Given the description of an element on the screen output the (x, y) to click on. 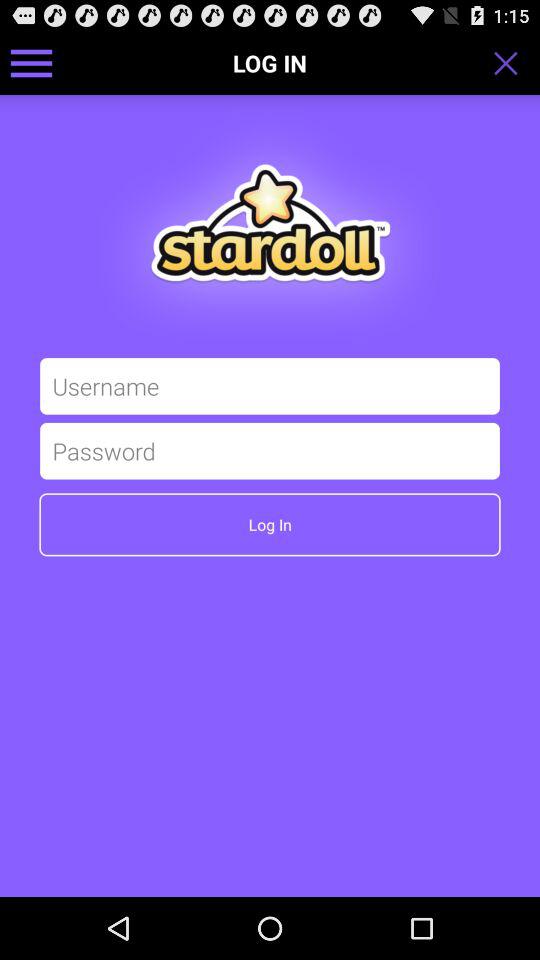
username (269, 386)
